Given the description of an element on the screen output the (x, y) to click on. 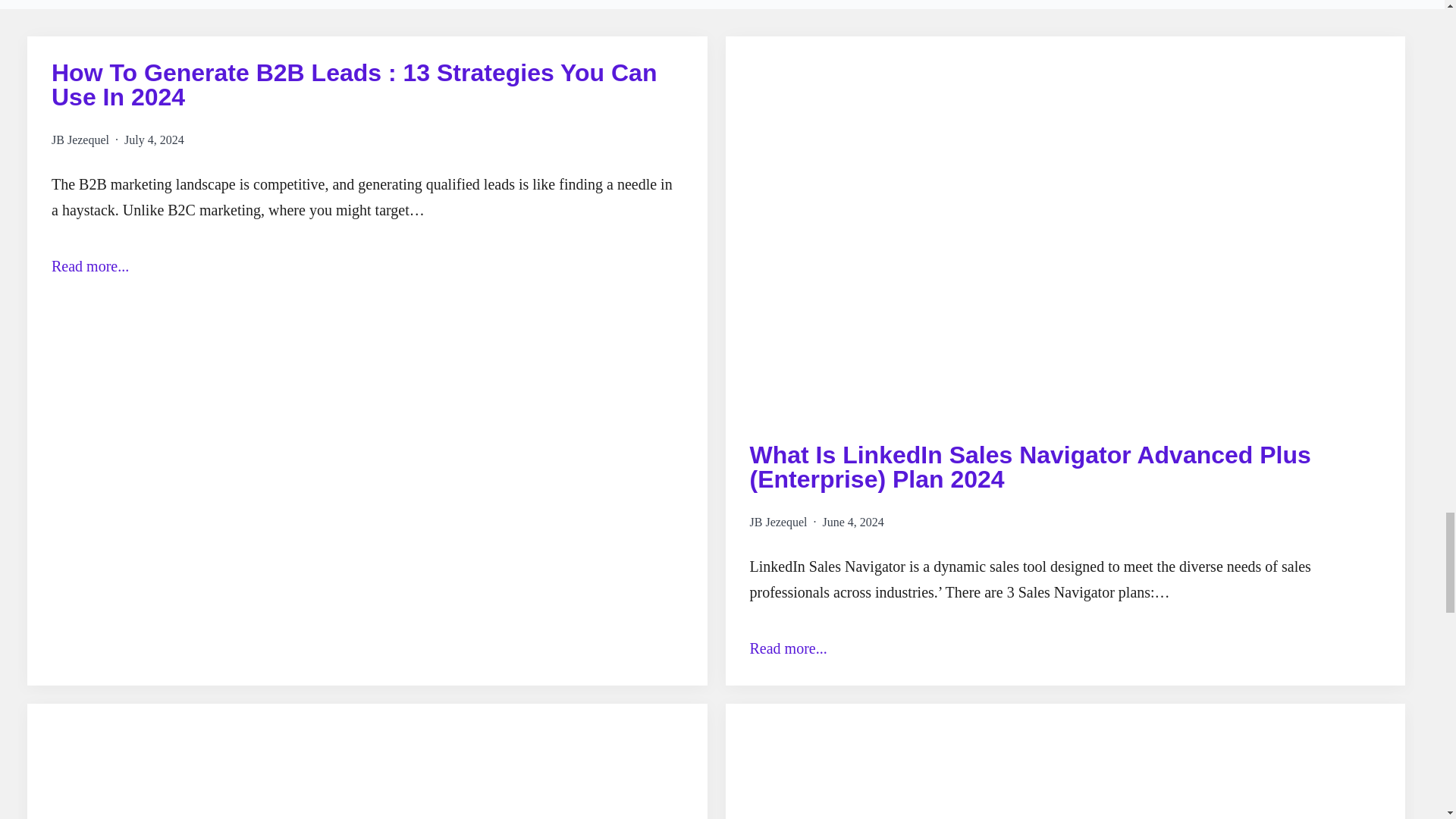
Read more... (366, 266)
How to Use LinkedIn Recruiter: Complete Guide 2024 2 (367, 761)
Read more... (1064, 647)
